Given the description of an element on the screen output the (x, y) to click on. 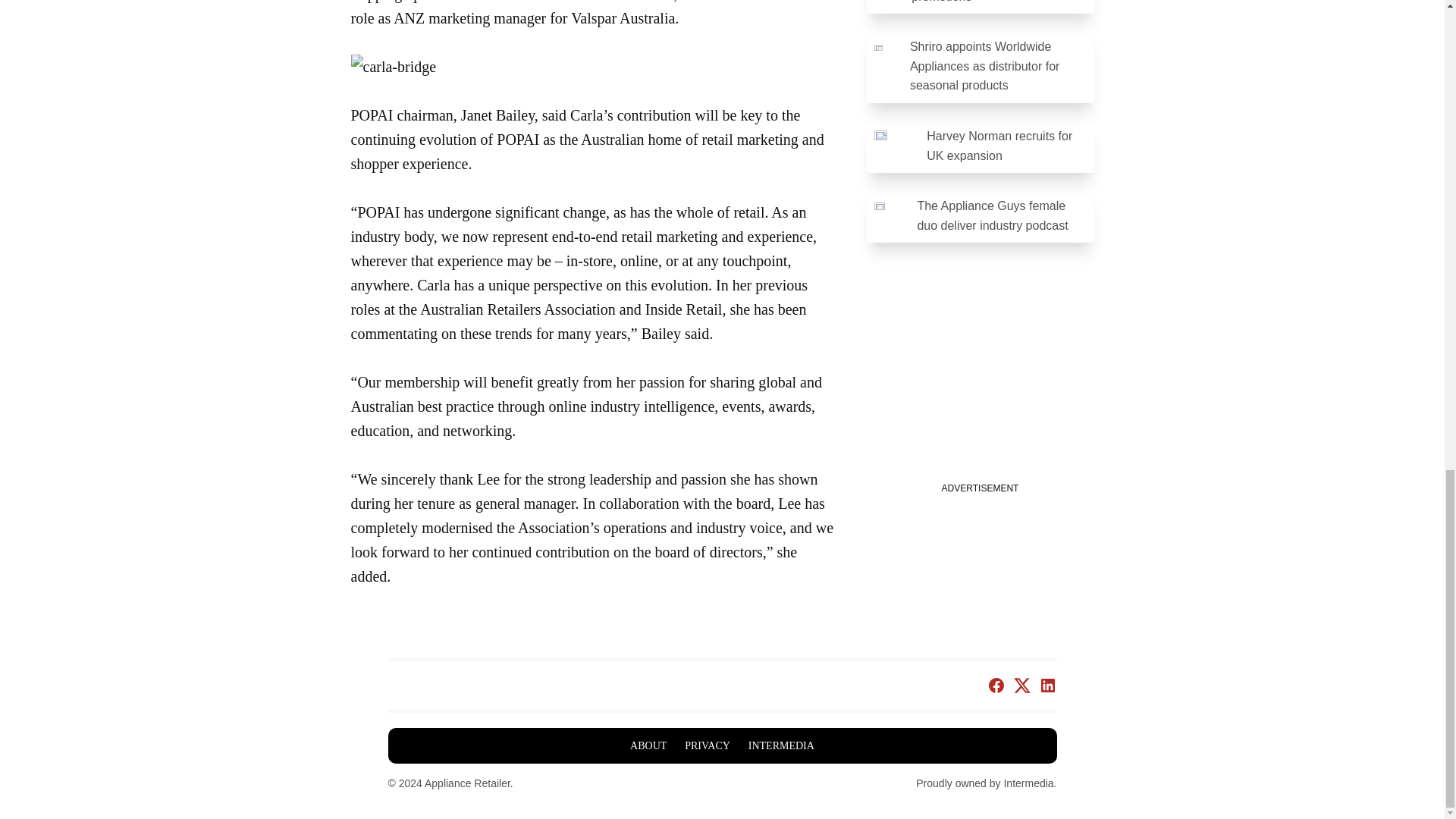
Harvey Norman recruits for UK expansion (979, 145)
The Appliance Guys female duo deliver industry podcast (979, 215)
